Given the description of an element on the screen output the (x, y) to click on. 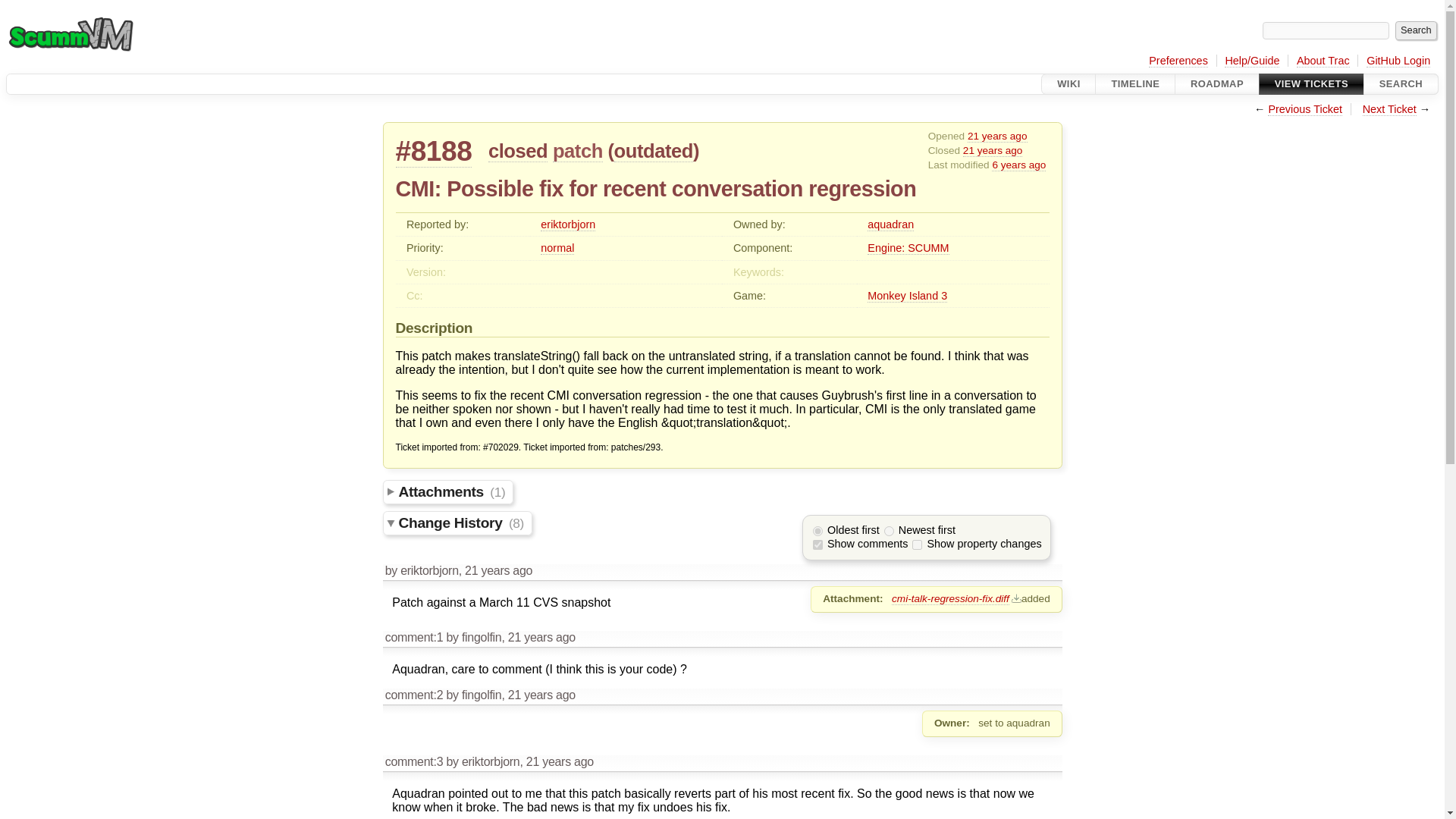
See timeline at Mar 12, 2003, 7:39:04 AM (498, 570)
Next Ticket (1389, 109)
TIMELINE (1135, 84)
See timeline at Mar 19, 2003, 11:53:28 AM (992, 150)
21 years ago (541, 694)
Monkey Island 3 (907, 295)
Download (1015, 598)
See timeline at Mar 12, 2003, 7:37:30 AM (997, 136)
21 years ago (992, 150)
Engine: SCUMM (908, 247)
